Given the description of an element on the screen output the (x, y) to click on. 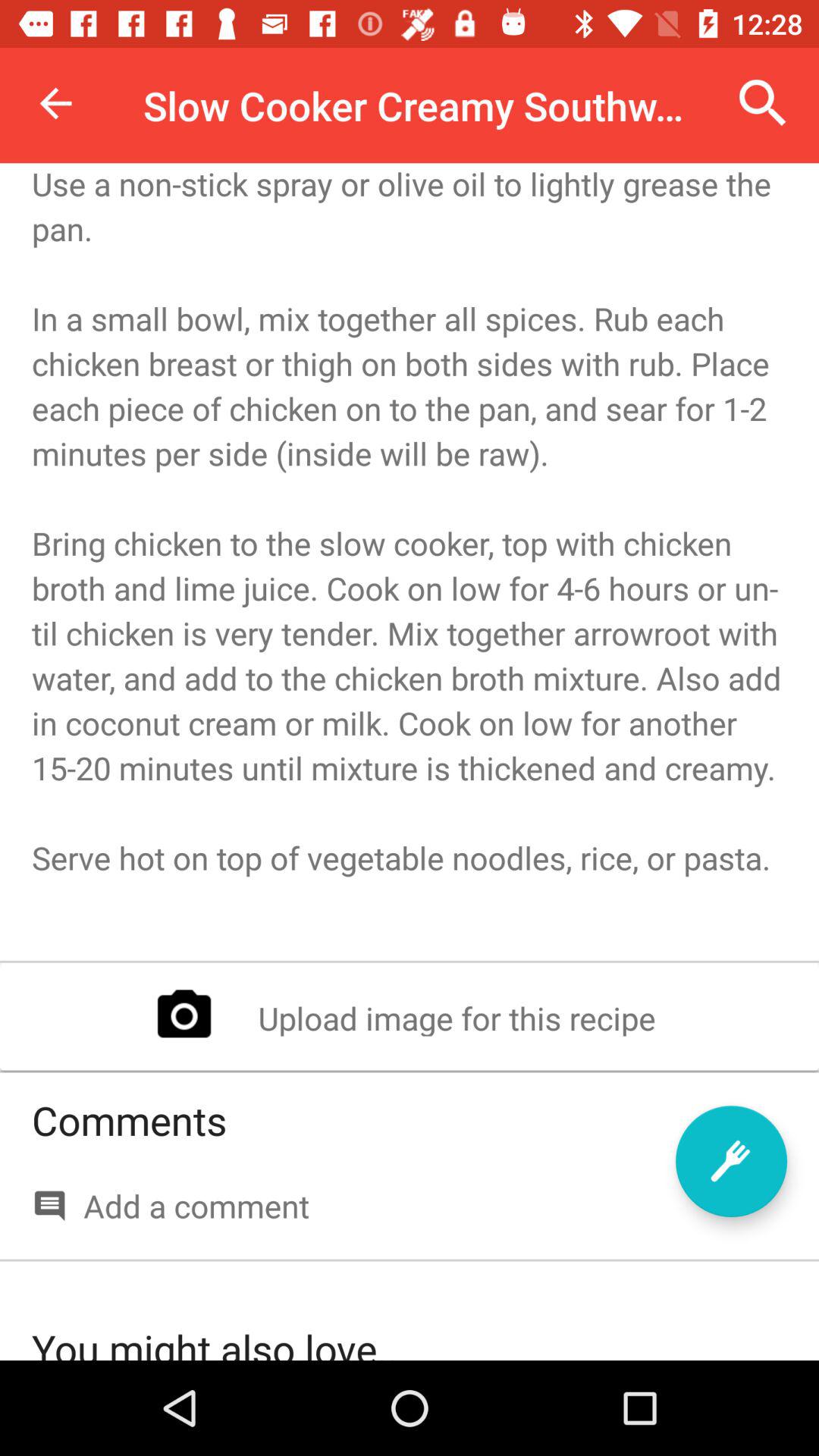
open icon at the bottom right corner (731, 1161)
